Given the description of an element on the screen output the (x, y) to click on. 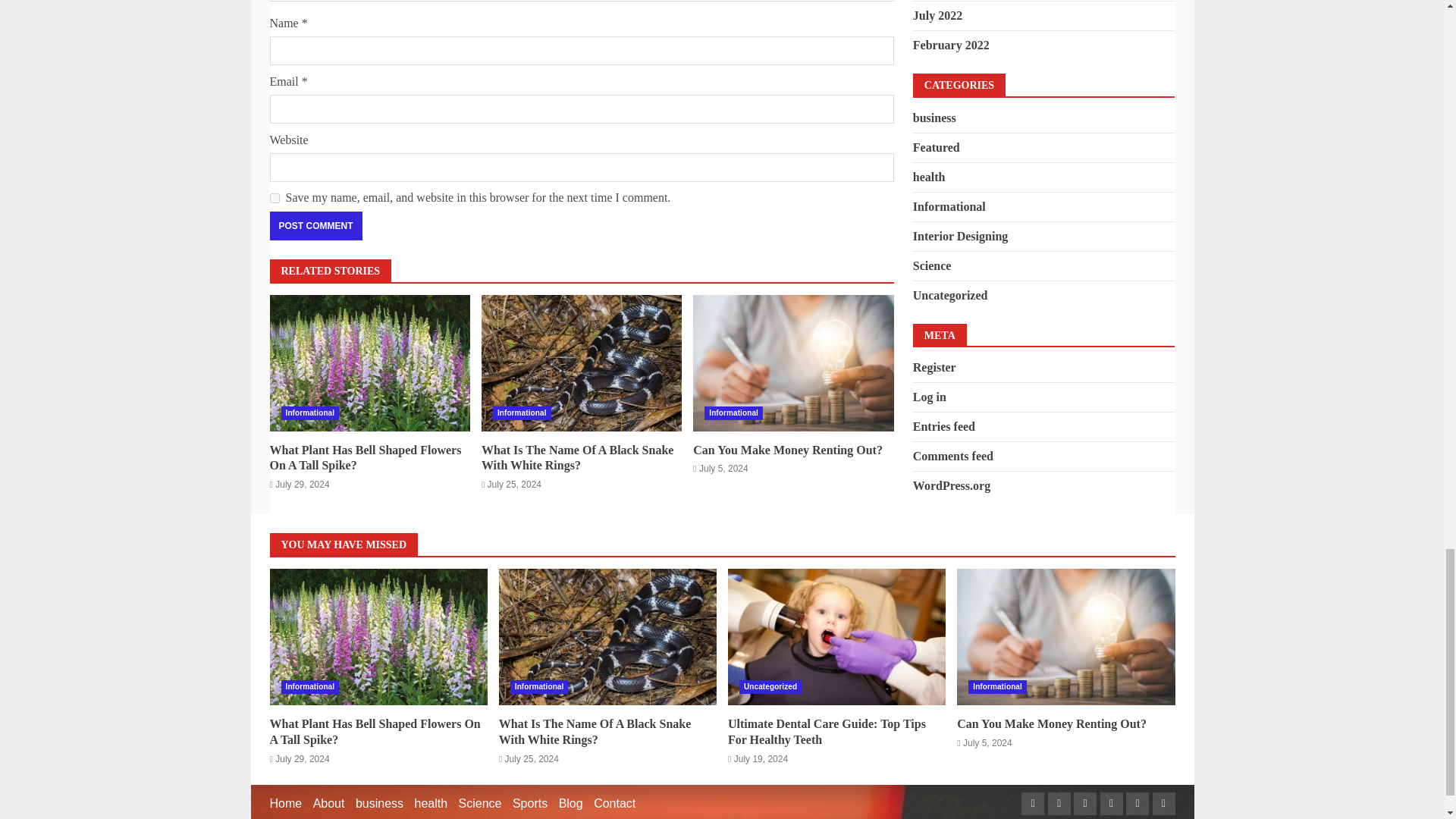
Post Comment (315, 225)
yes (274, 198)
